Given the description of an element on the screen output the (x, y) to click on. 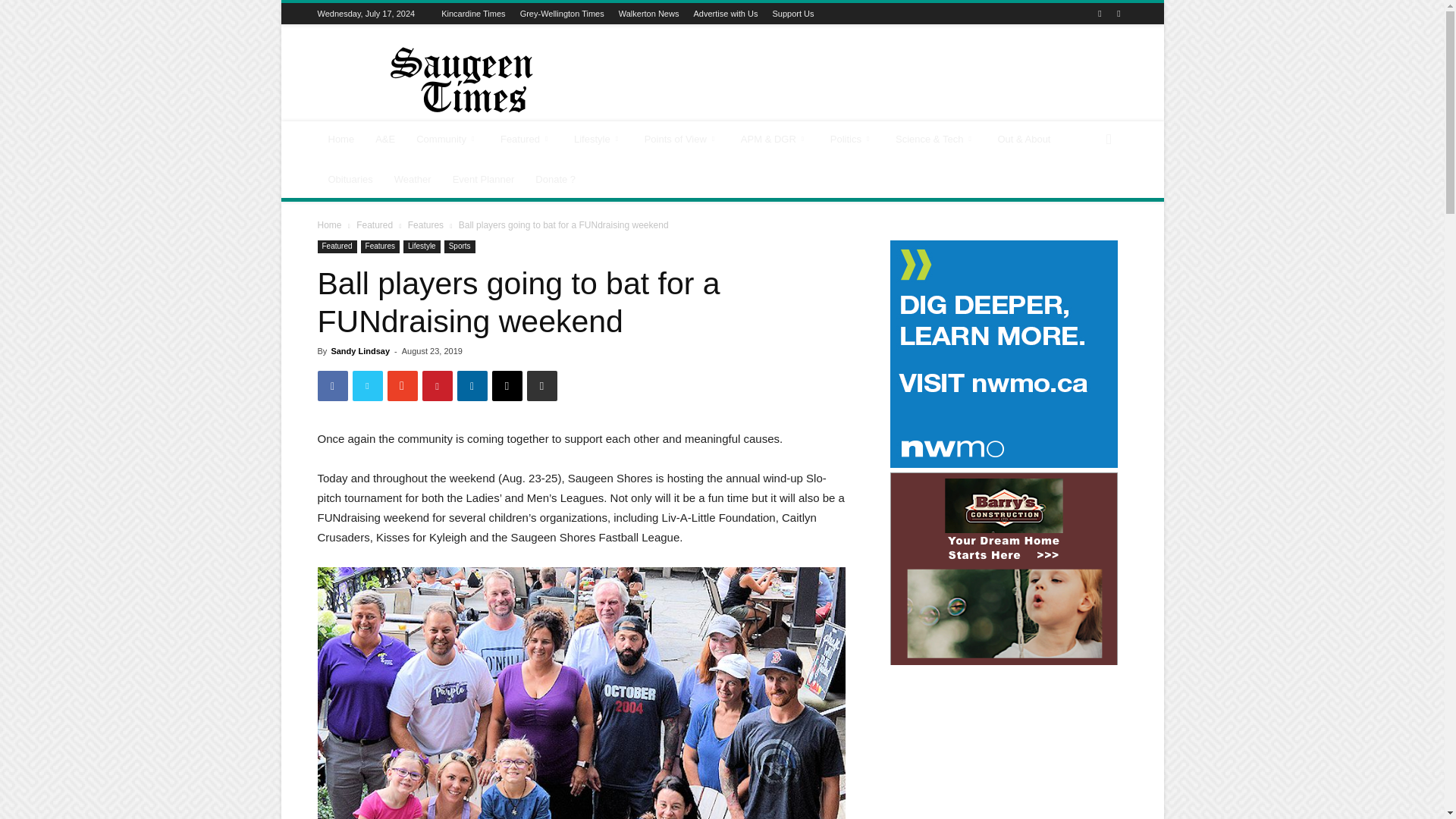
Saugeen Times (445, 79)
View all posts in Featured (374, 225)
View all posts in Features (425, 225)
